Given the description of an element on the screen output the (x, y) to click on. 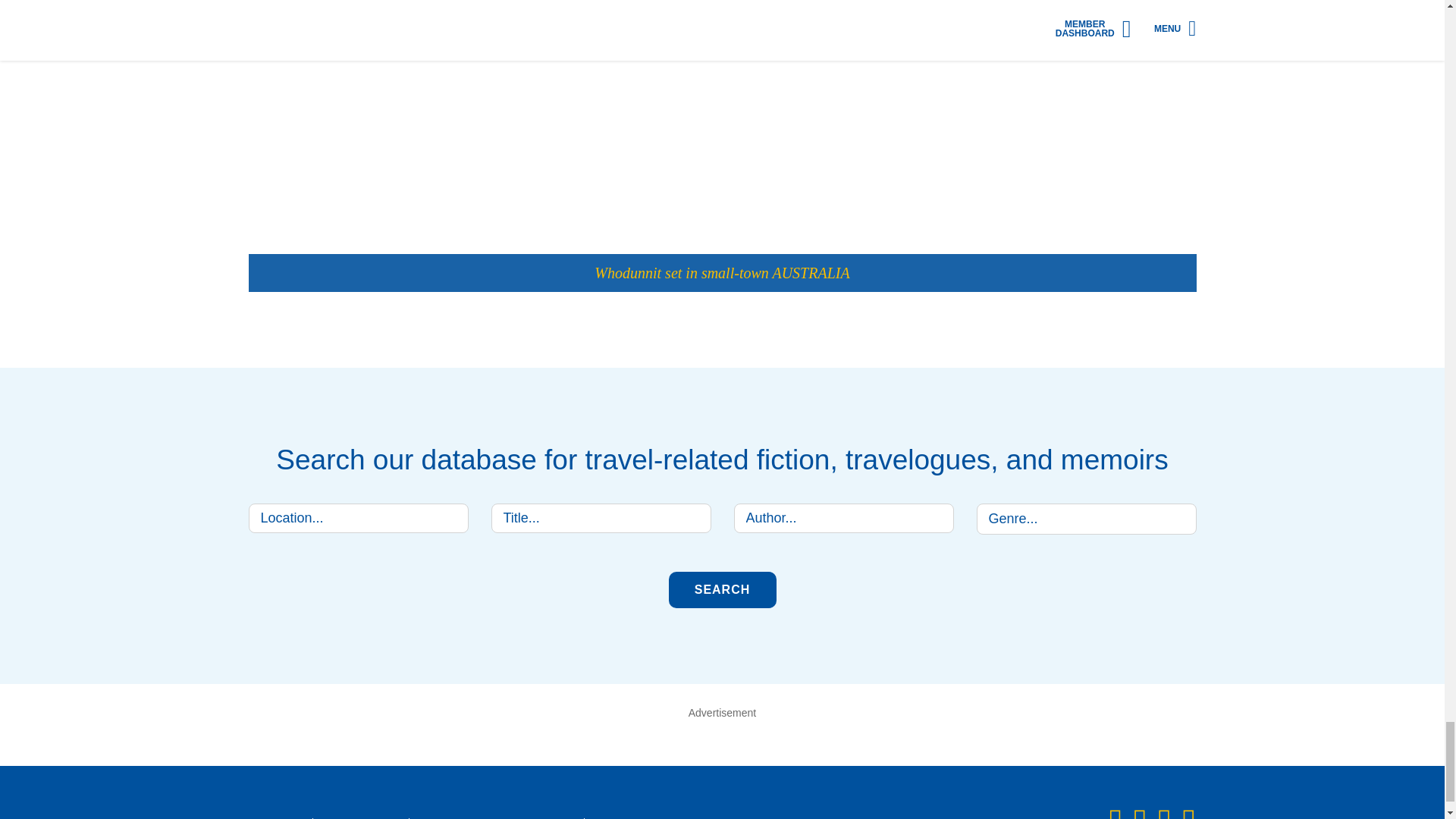
Title... (601, 518)
Location... (358, 518)
Location... (358, 518)
Search (722, 589)
Search (722, 589)
Author... (843, 518)
Title... (601, 518)
Author... (843, 518)
